Given the description of an element on the screen output the (x, y) to click on. 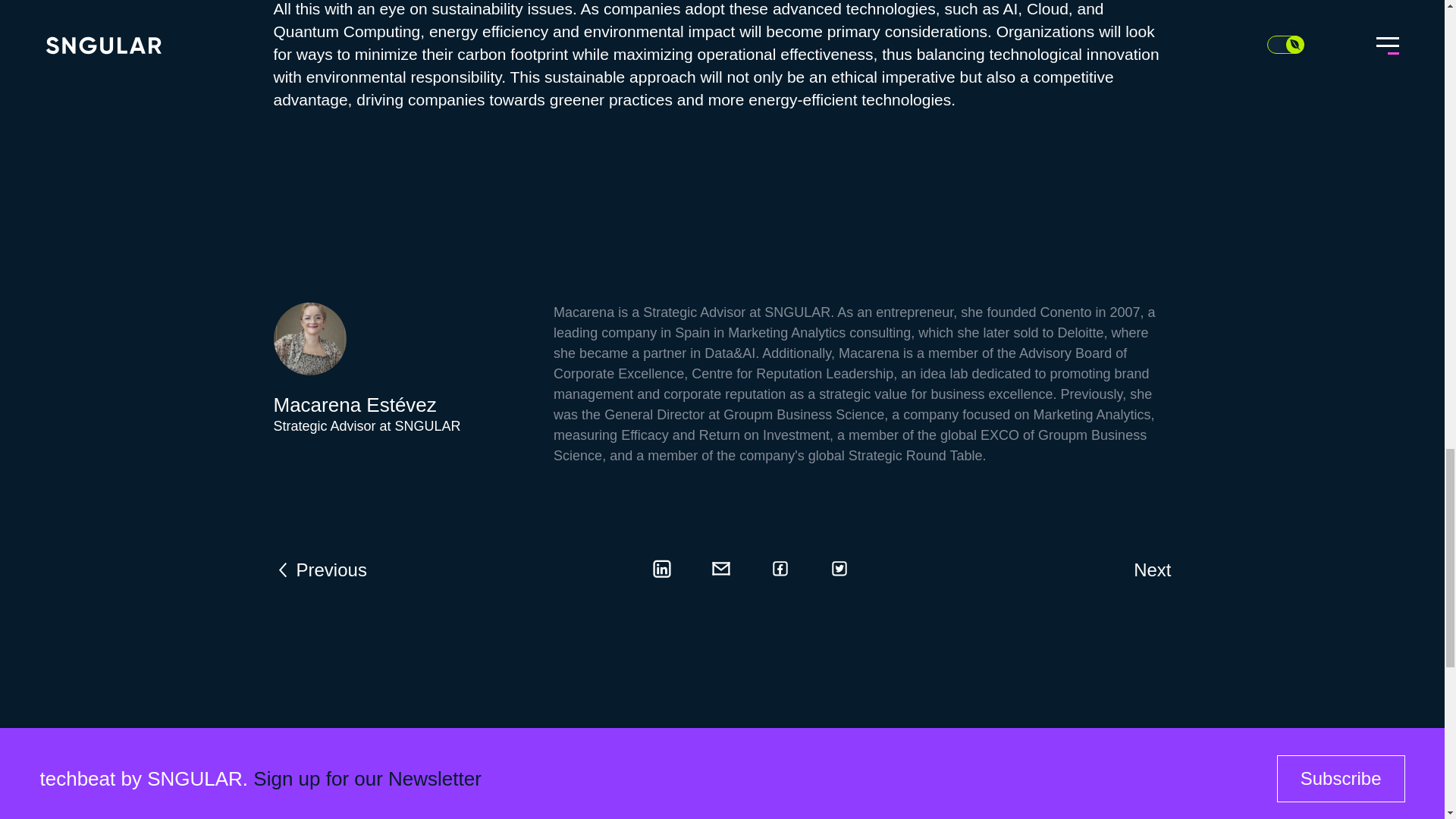
Next (1152, 569)
Next (1152, 569)
Previous (319, 569)
Previous (319, 569)
Subscribe (1340, 778)
Subscribe (1340, 778)
